Given the description of an element on the screen output the (x, y) to click on. 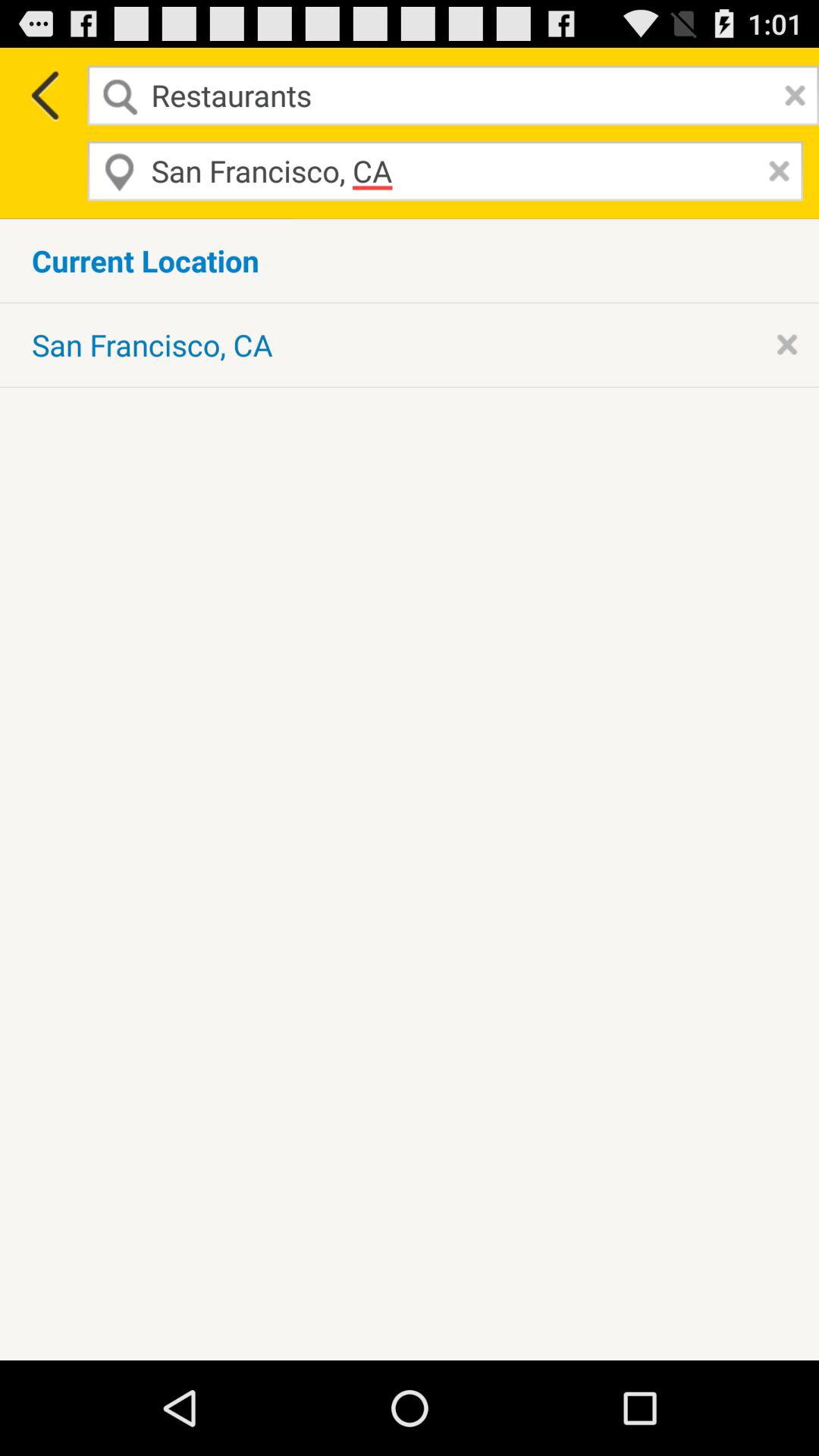
remove entry (775, 171)
